Given the description of an element on the screen output the (x, y) to click on. 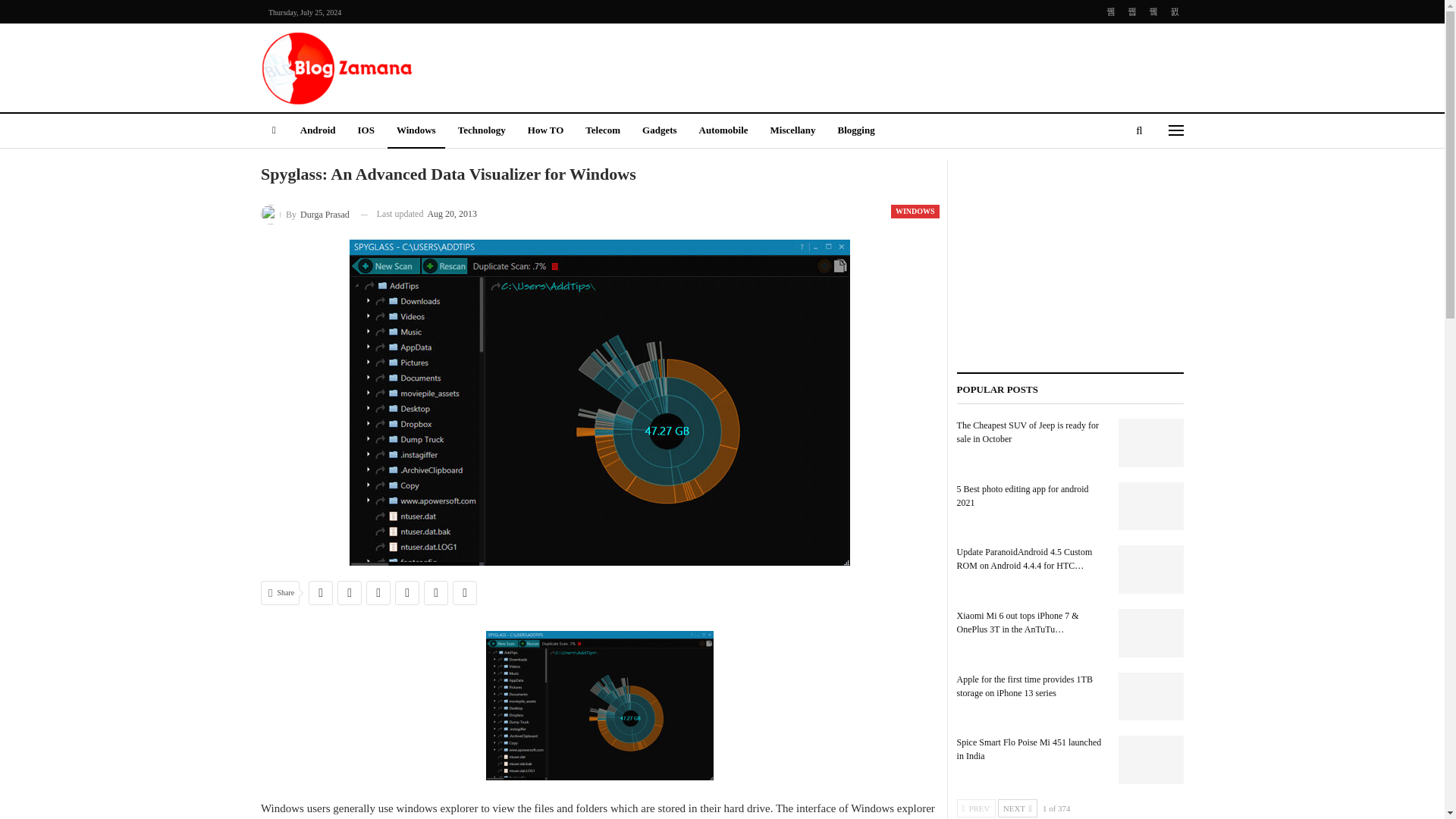
Advertisement (878, 65)
How TO (545, 131)
IOS (364, 131)
Gadgets (659, 131)
Android (318, 131)
Browse Author Articles (304, 213)
Windows (416, 131)
Blogging (855, 131)
Telecom (602, 131)
Miscellany (793, 131)
By Durga Prasad (304, 213)
Technology (481, 131)
WINDOWS (915, 211)
Automobile (723, 131)
